Given the description of an element on the screen output the (x, y) to click on. 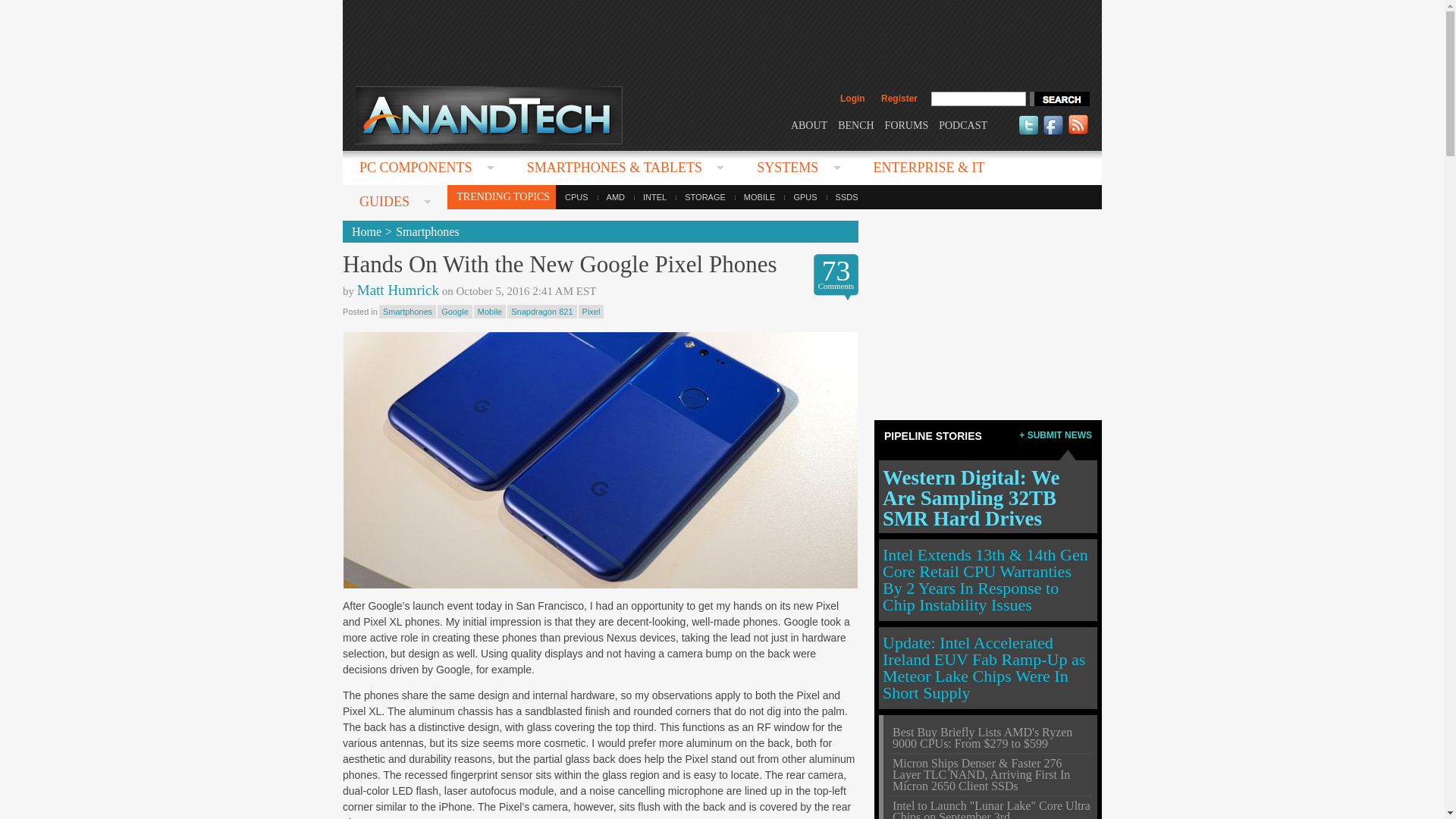
PODCAST (963, 125)
Login (852, 98)
FORUMS (906, 125)
ABOUT (808, 125)
search (1059, 98)
Register (898, 98)
BENCH (855, 125)
search (1059, 98)
search (1059, 98)
